Given the description of an element on the screen output the (x, y) to click on. 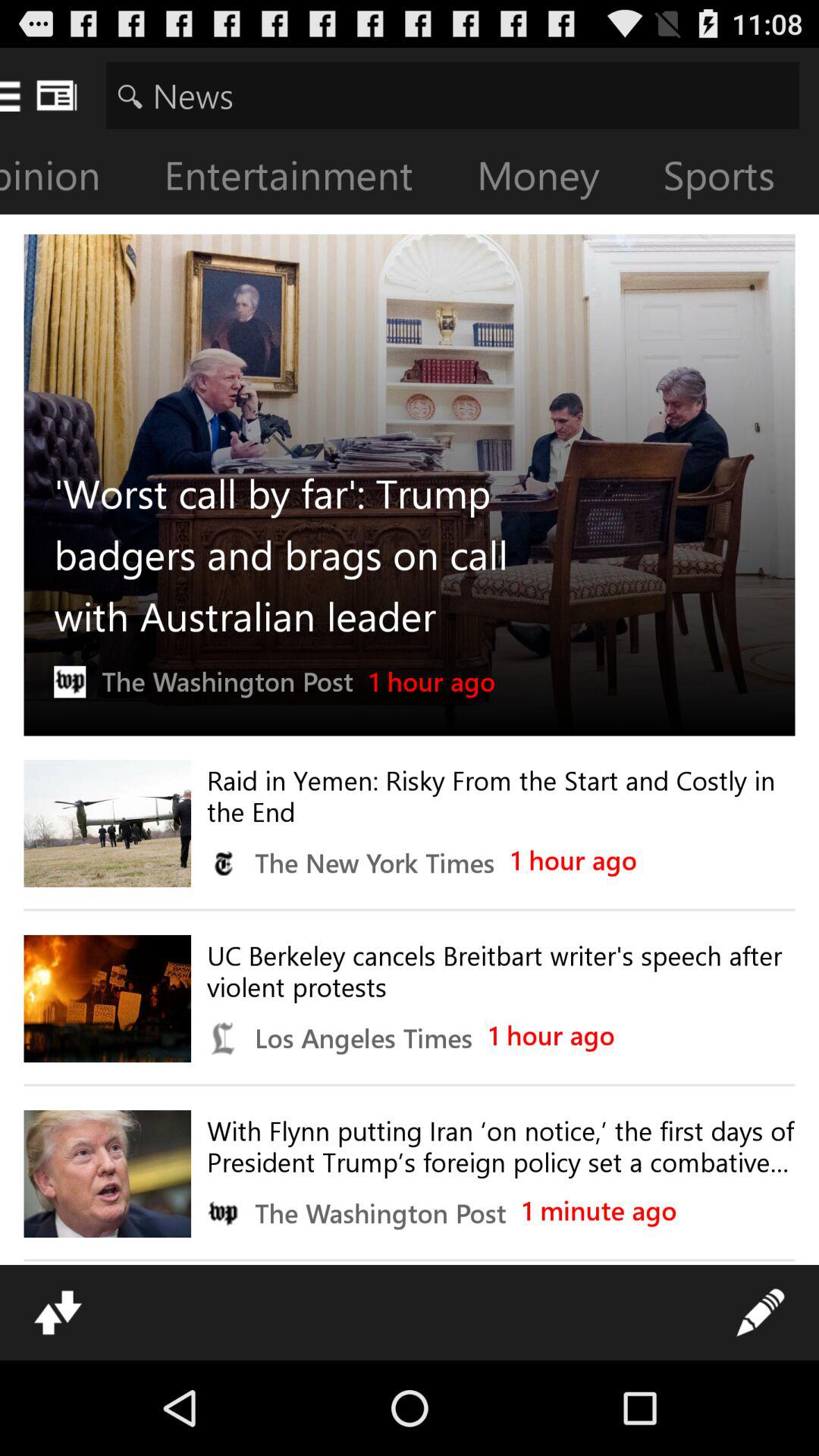
search bar (452, 95)
